Given the description of an element on the screen output the (x, y) to click on. 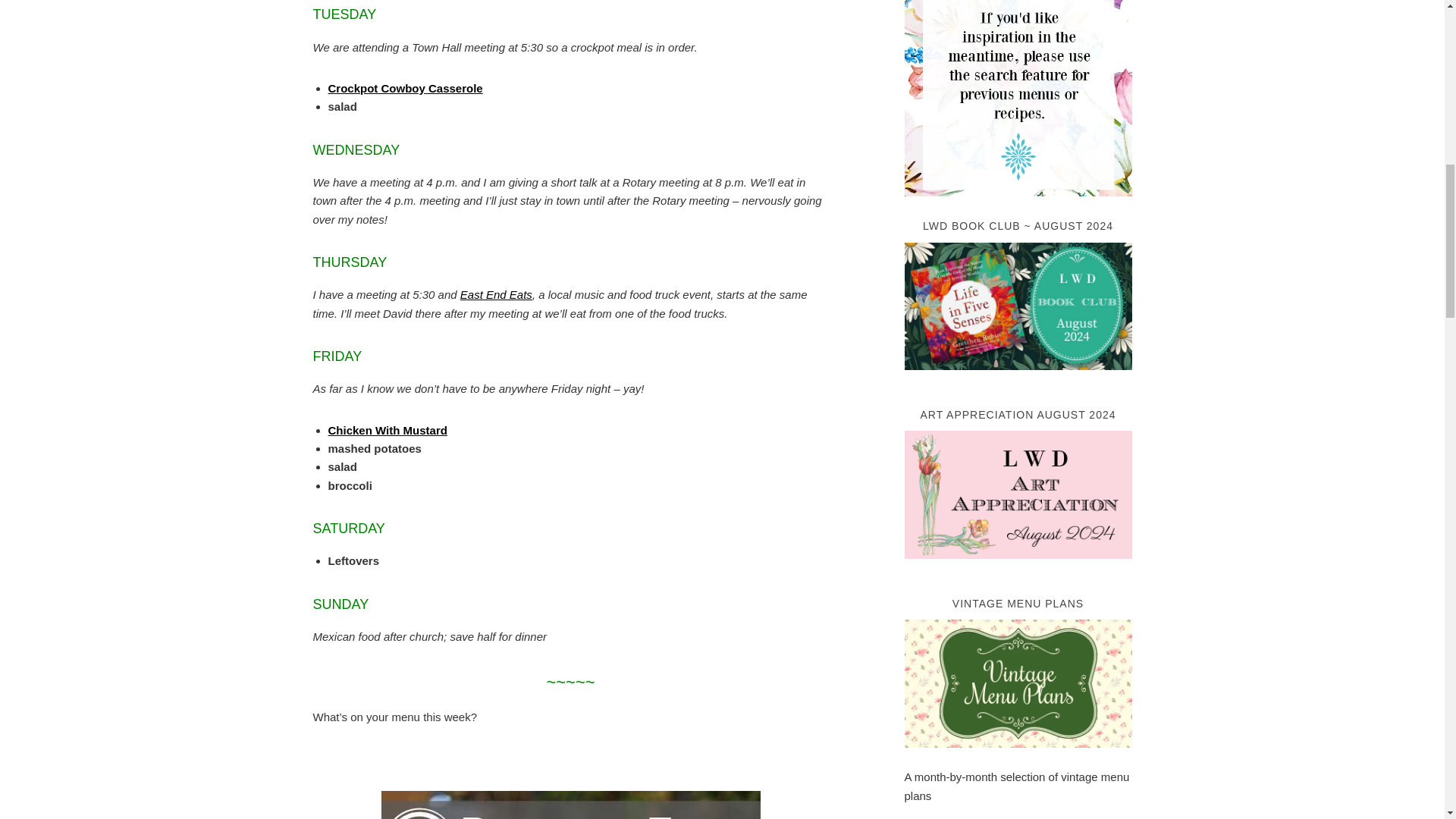
Art Appreciation August 2024 (1017, 569)
East End Eats (496, 294)
Vintage Menu Plans (1017, 758)
Crockpot Cowboy Casserole (404, 88)
Chicken With Mustard (386, 430)
